Given the description of an element on the screen output the (x, y) to click on. 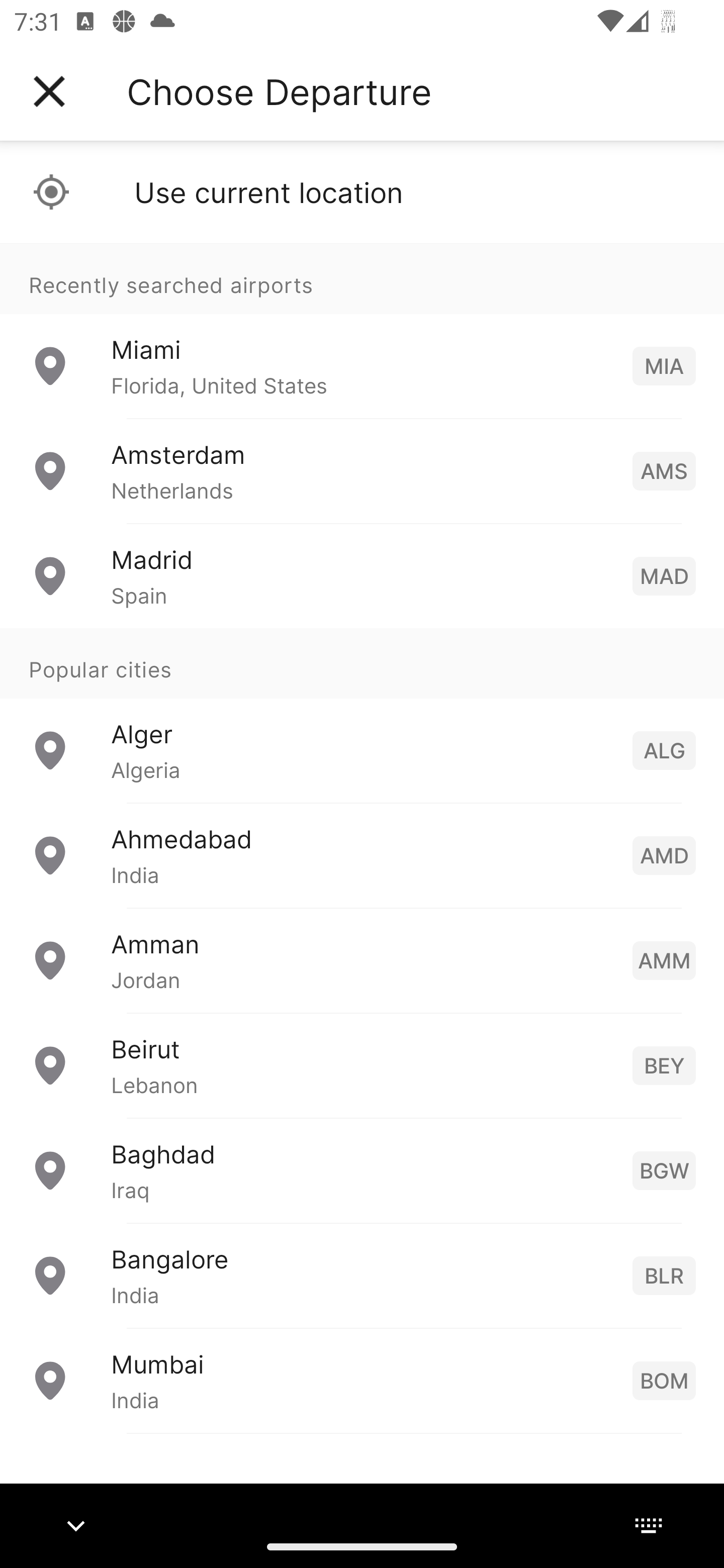
Choose Departure (279, 91)
Use current location (362, 192)
Recently searched airports (362, 278)
Amsterdam Netherlands AMS (362, 470)
Madrid Spain MAD (362, 575)
Popular cities Alger Algeria ALG (362, 715)
Popular cities (362, 663)
Ahmedabad India AMD (362, 854)
Amman Jordan AMM (362, 959)
Beirut Lebanon BEY (362, 1064)
Baghdad Iraq BGW (362, 1170)
Bangalore India BLR (362, 1275)
Mumbai India BOM (362, 1380)
